Given the description of an element on the screen output the (x, y) to click on. 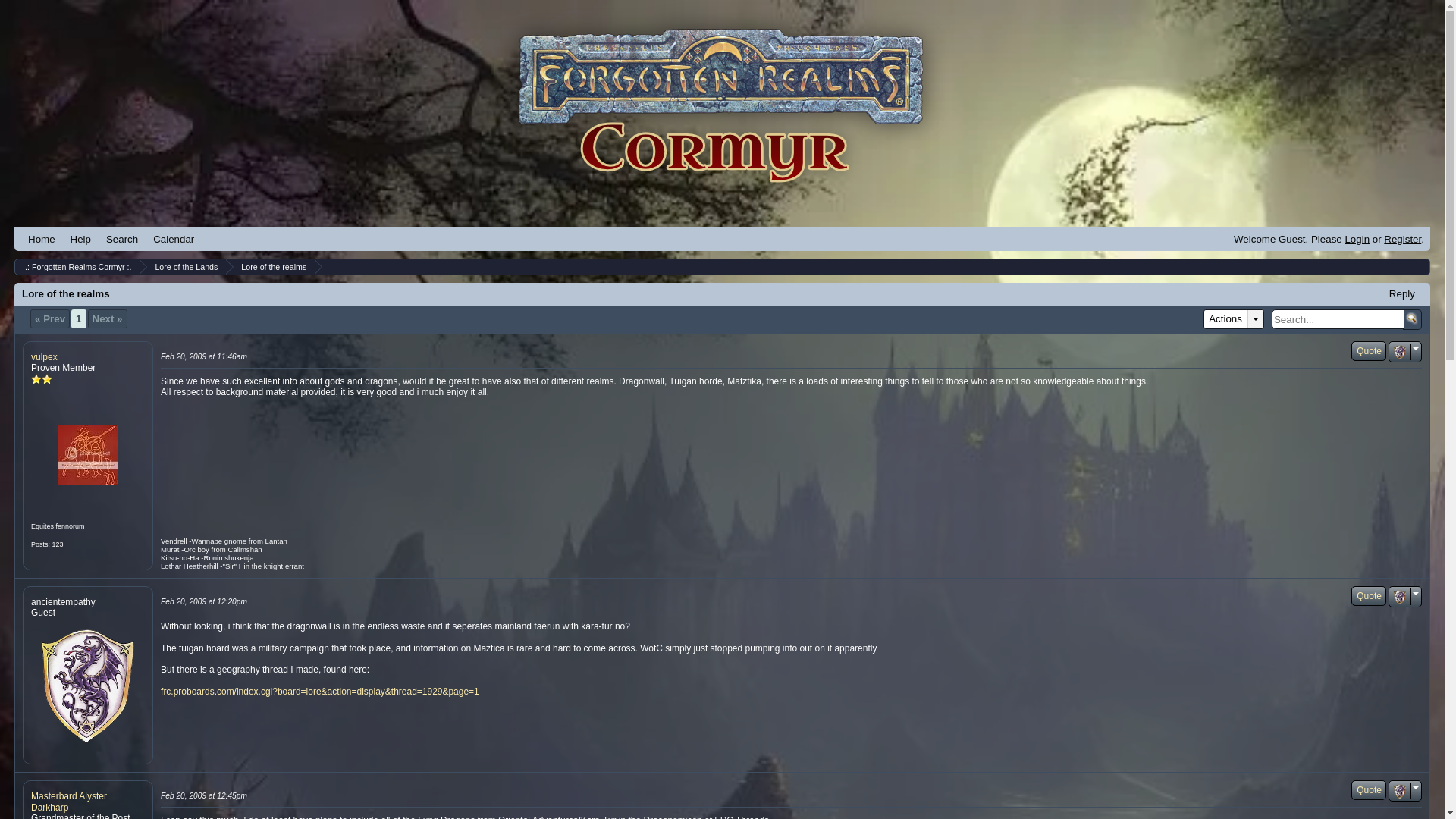
Lore of the realms (272, 266)
vulpex (87, 454)
Search (122, 238)
Post Options (1399, 791)
Register (1402, 238)
vulpex (44, 357)
Post Options (1399, 597)
Guest (87, 685)
Quote (1368, 351)
.: Forgotten Realms Cormyr :. (75, 266)
Login (1356, 238)
Lore of the Lands (183, 266)
Calendar (173, 238)
